Given the description of an element on the screen output the (x, y) to click on. 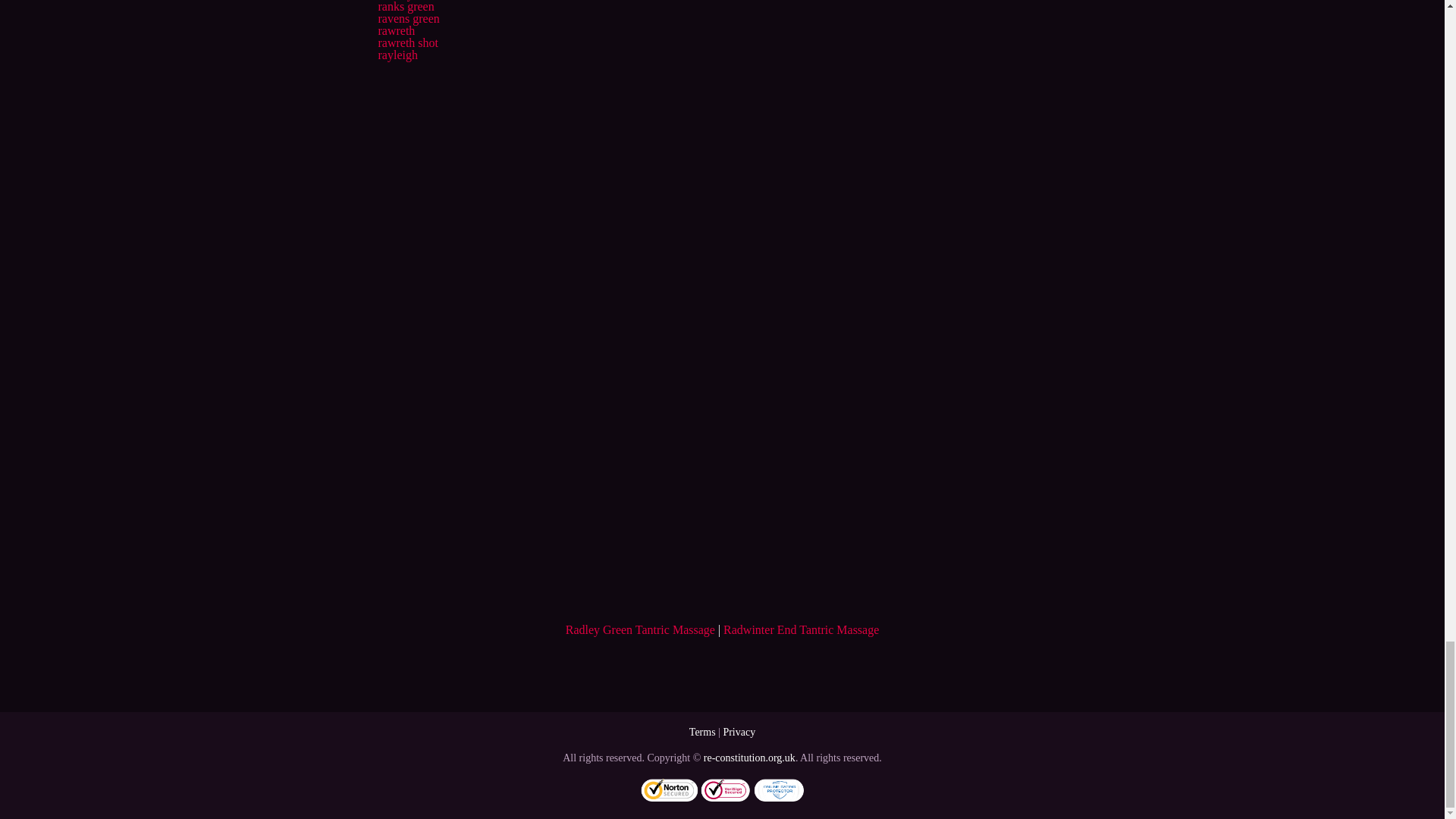
rawreth shot (407, 56)
ravens green (408, 32)
Privacy (738, 746)
ramsey (394, 1)
Terms (702, 746)
ranks green (405, 20)
Terms (702, 746)
Privacy (738, 746)
rawreth (395, 44)
ramsey island (410, 8)
rayleigh (396, 69)
Radley Green Tantric Massage (640, 644)
re-constitution.org.uk (748, 772)
Radwinter End Tantric Massage (801, 644)
